Given the description of an element on the screen output the (x, y) to click on. 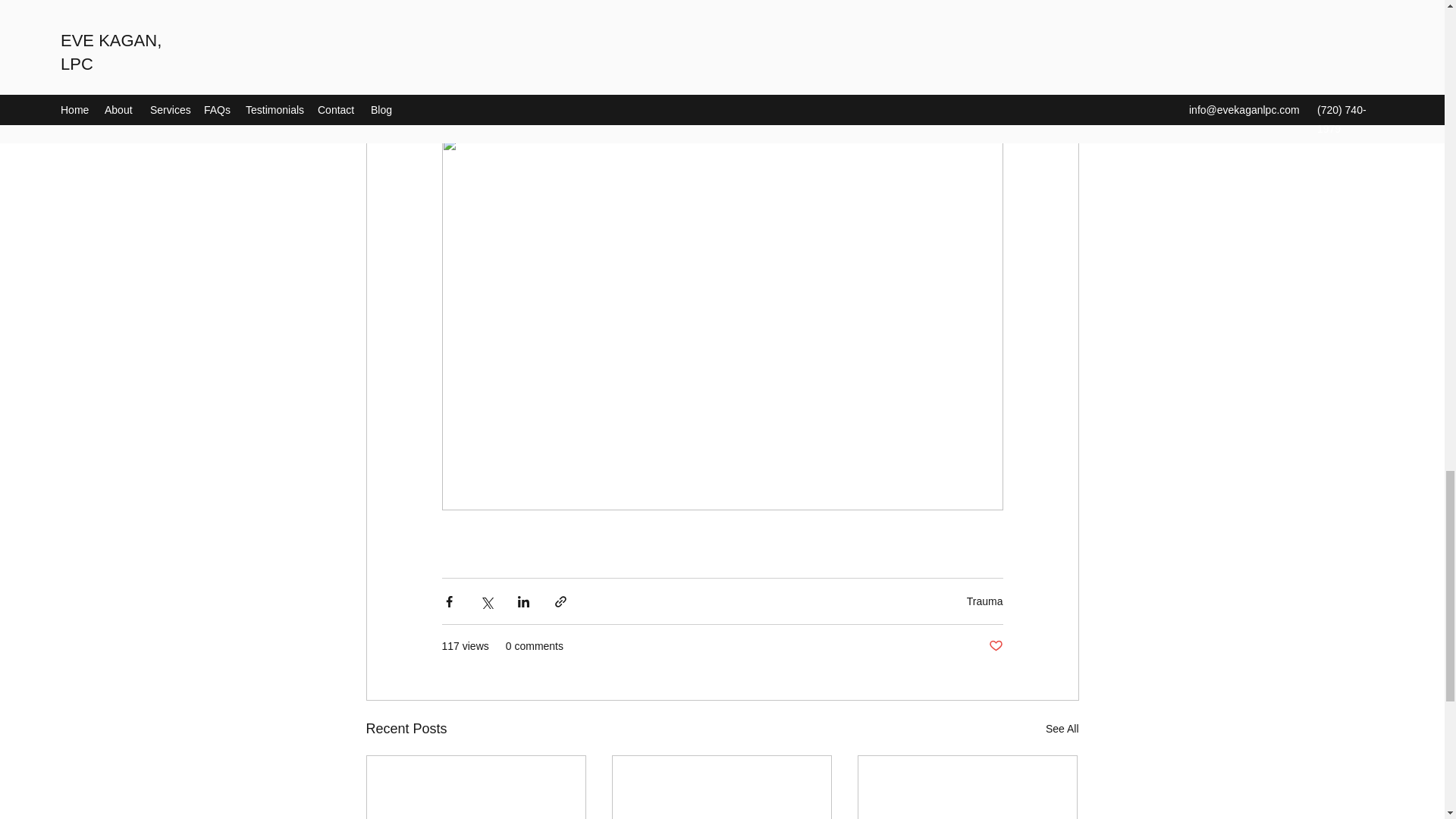
here (786, 96)
here (729, 96)
here (694, 96)
See All (1061, 729)
Trauma (984, 601)
Post not marked as liked (995, 646)
